Given the description of an element on the screen output the (x, y) to click on. 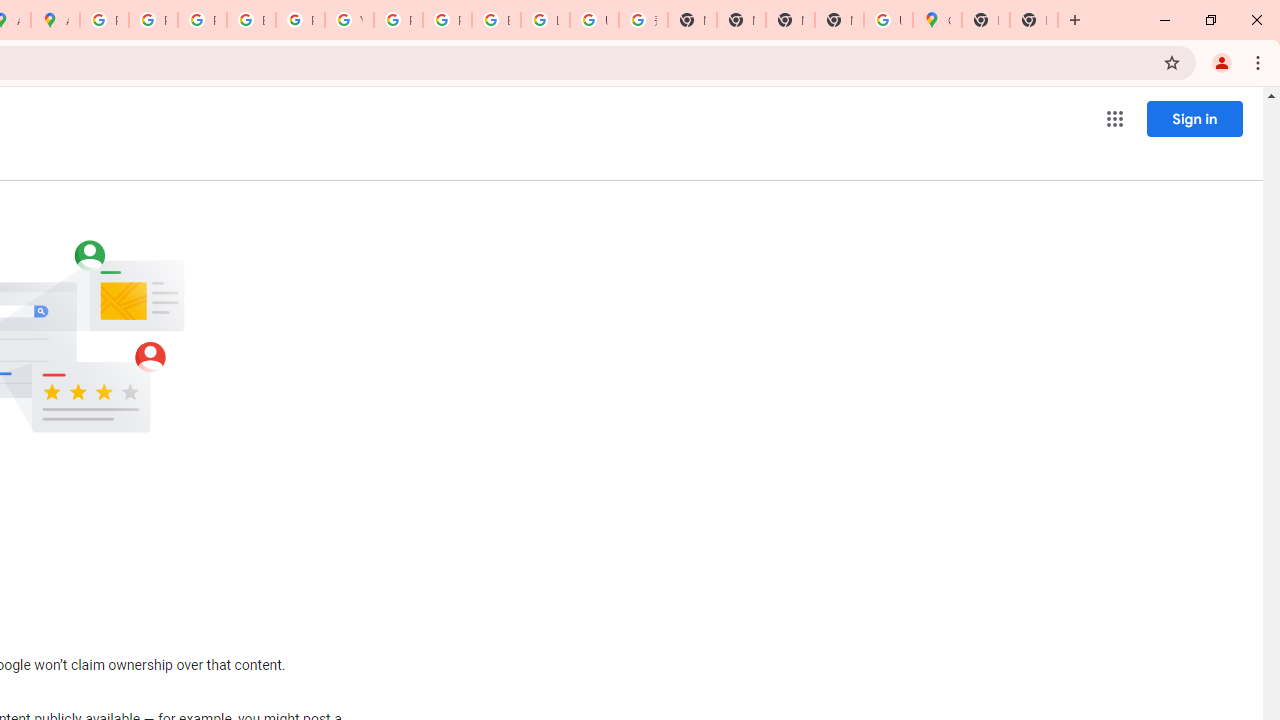
Privacy Help Center - Policies Help (153, 20)
Privacy Help Center - Policies Help (201, 20)
New Tab (839, 20)
Policy Accountability and Transparency - Transparency Center (104, 20)
New Tab (985, 20)
YouTube (349, 20)
